Given the description of an element on the screen output the (x, y) to click on. 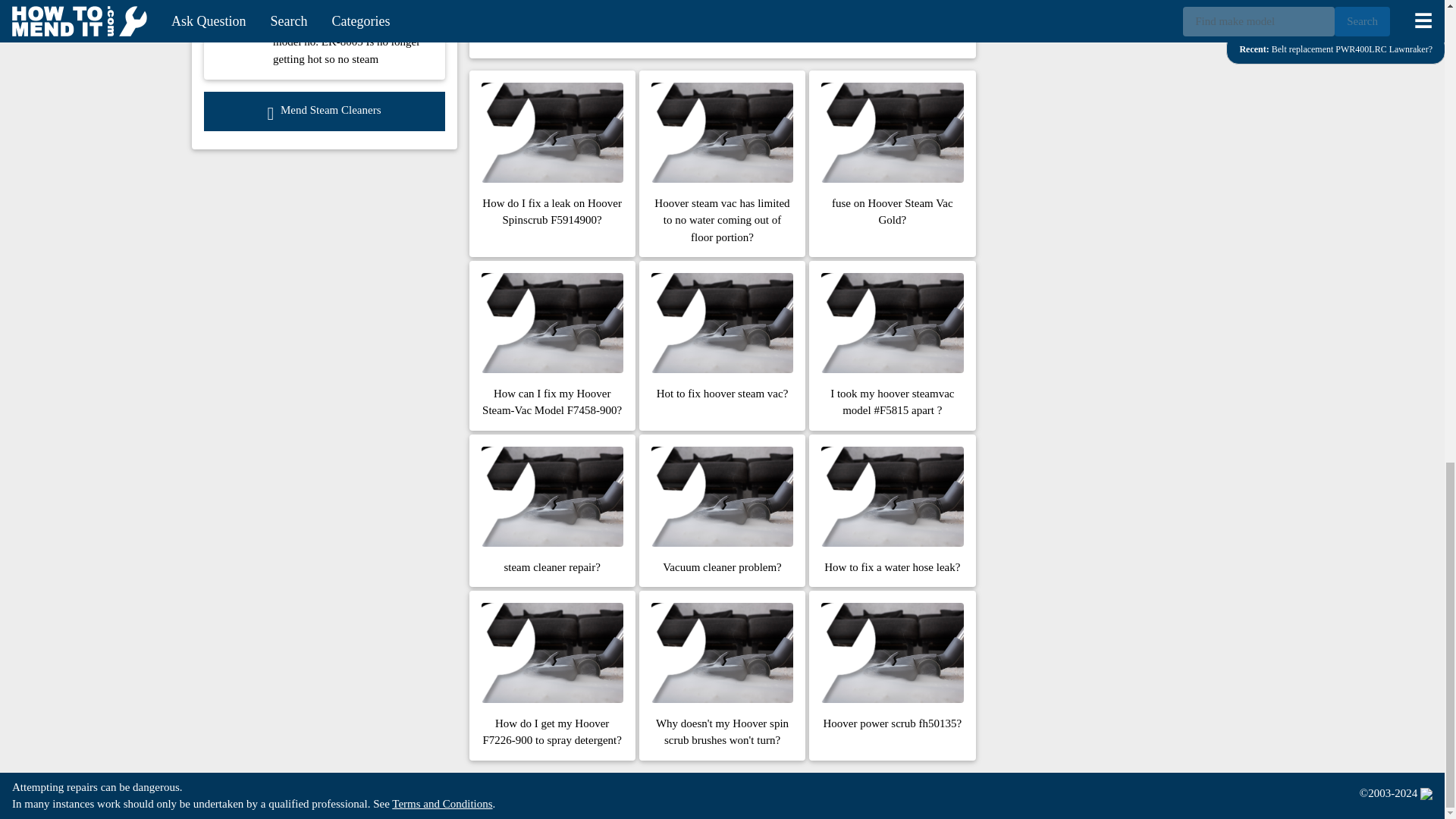
Add Answer (527, 20)
Mend Steam Cleaners (323, 111)
fuse on Hoover Steam Vac Gold? (892, 163)
How do I fix a leak on Hoover Spinscrub F5914900? (551, 163)
How can I fix my Hoover Steam-Vac Model F7458-900? (551, 345)
